Given the description of an element on the screen output the (x, y) to click on. 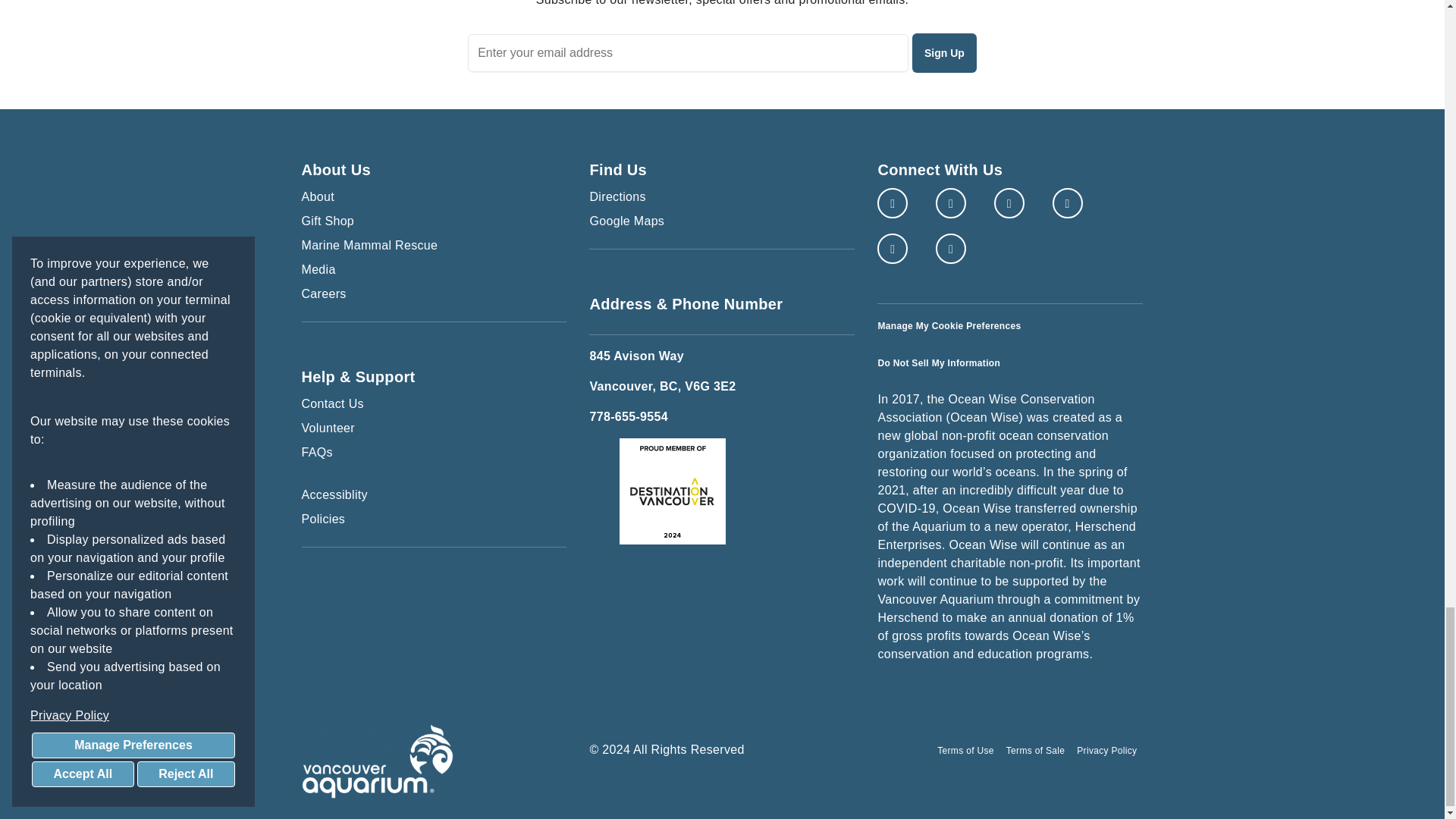
Volunteer (434, 428)
Sign Up (944, 52)
FAQs (434, 452)
